Given the description of an element on the screen output the (x, y) to click on. 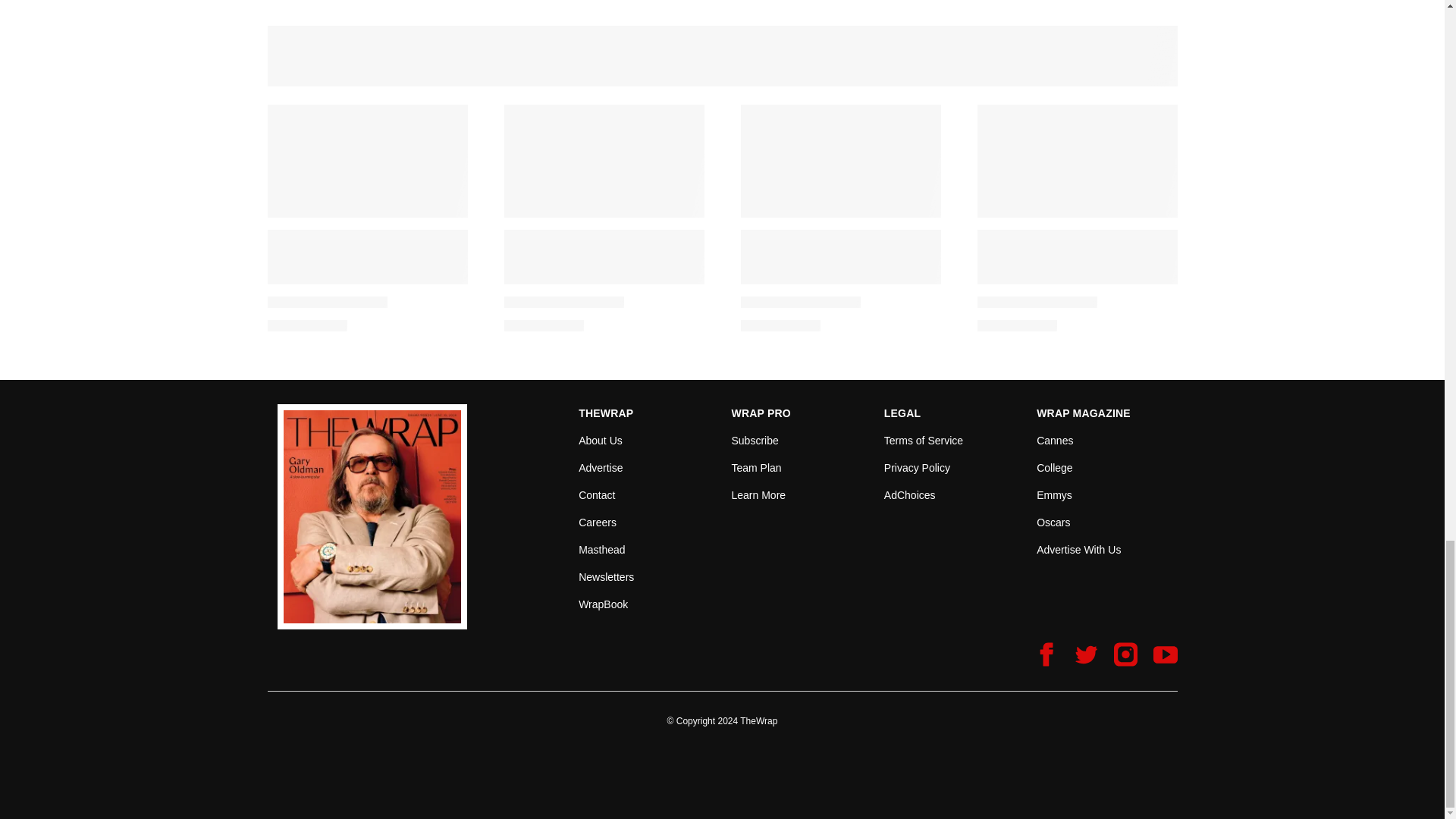
Learn more about becoming a member (758, 494)
